Given the description of an element on the screen output the (x, y) to click on. 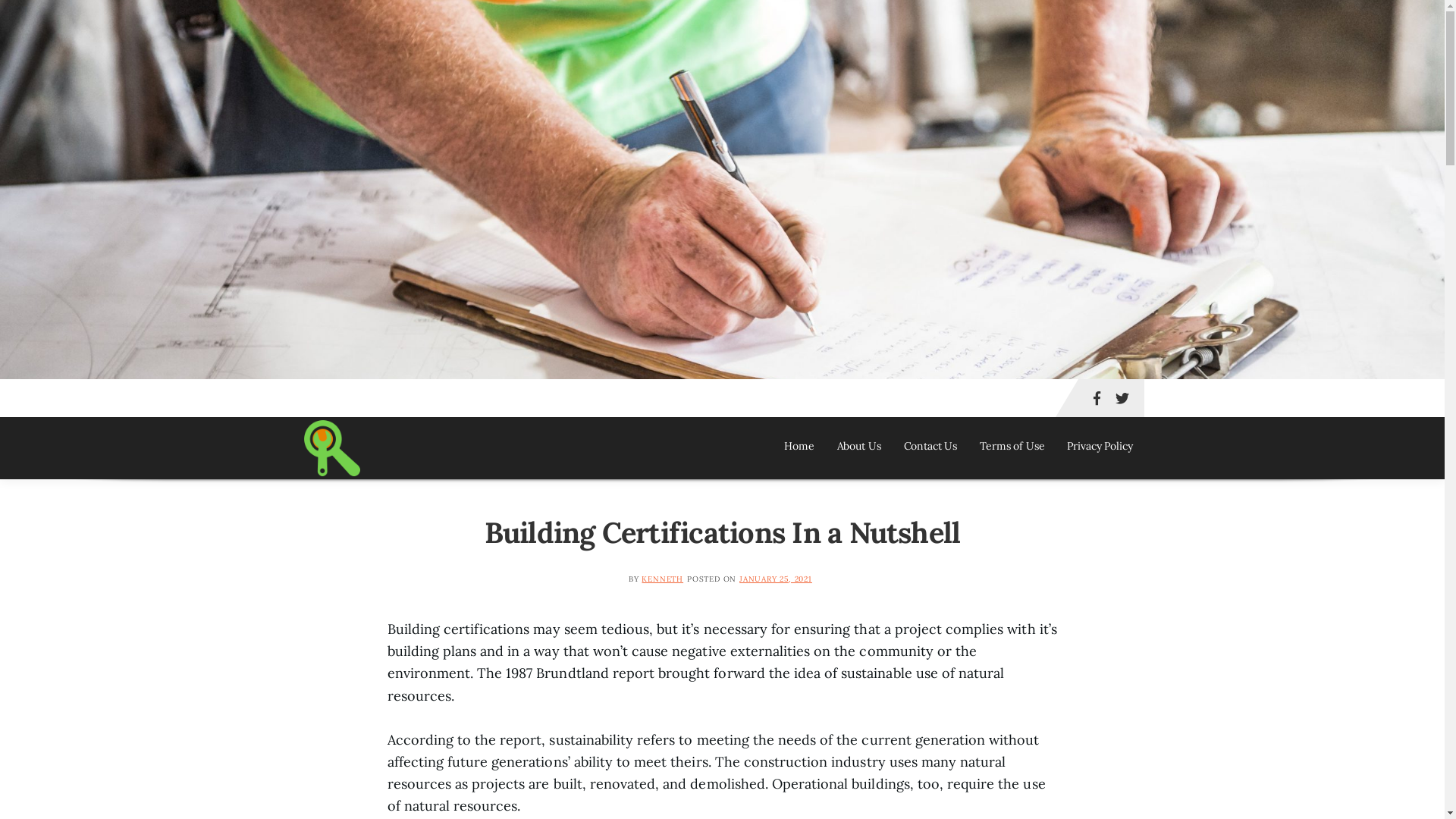
twitter Element type: text (1121, 398)
Terms of Use Element type: text (1011, 445)
facebook Element type: text (1096, 398)
Contact Us Element type: text (930, 445)
JANUARY 25, 2021 Element type: text (775, 578)
About Us Element type: text (858, 445)
Privacy Policy Element type: text (1099, 445)
Home Element type: text (798, 445)
KENNETH Element type: text (662, 578)
